Given the description of an element on the screen output the (x, y) to click on. 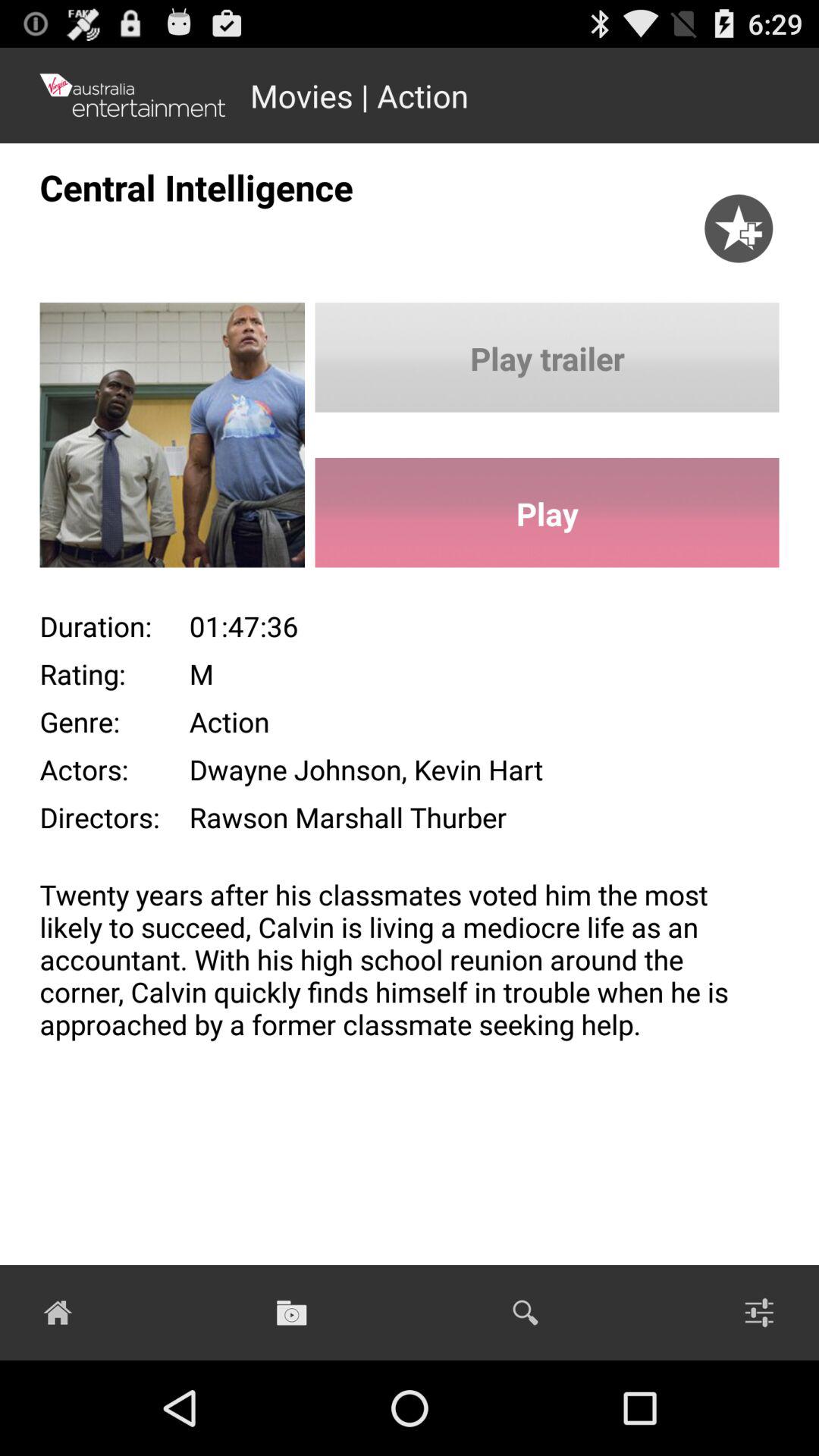
press icon to the right of the central intelligence app (738, 212)
